Given the description of an element on the screen output the (x, y) to click on. 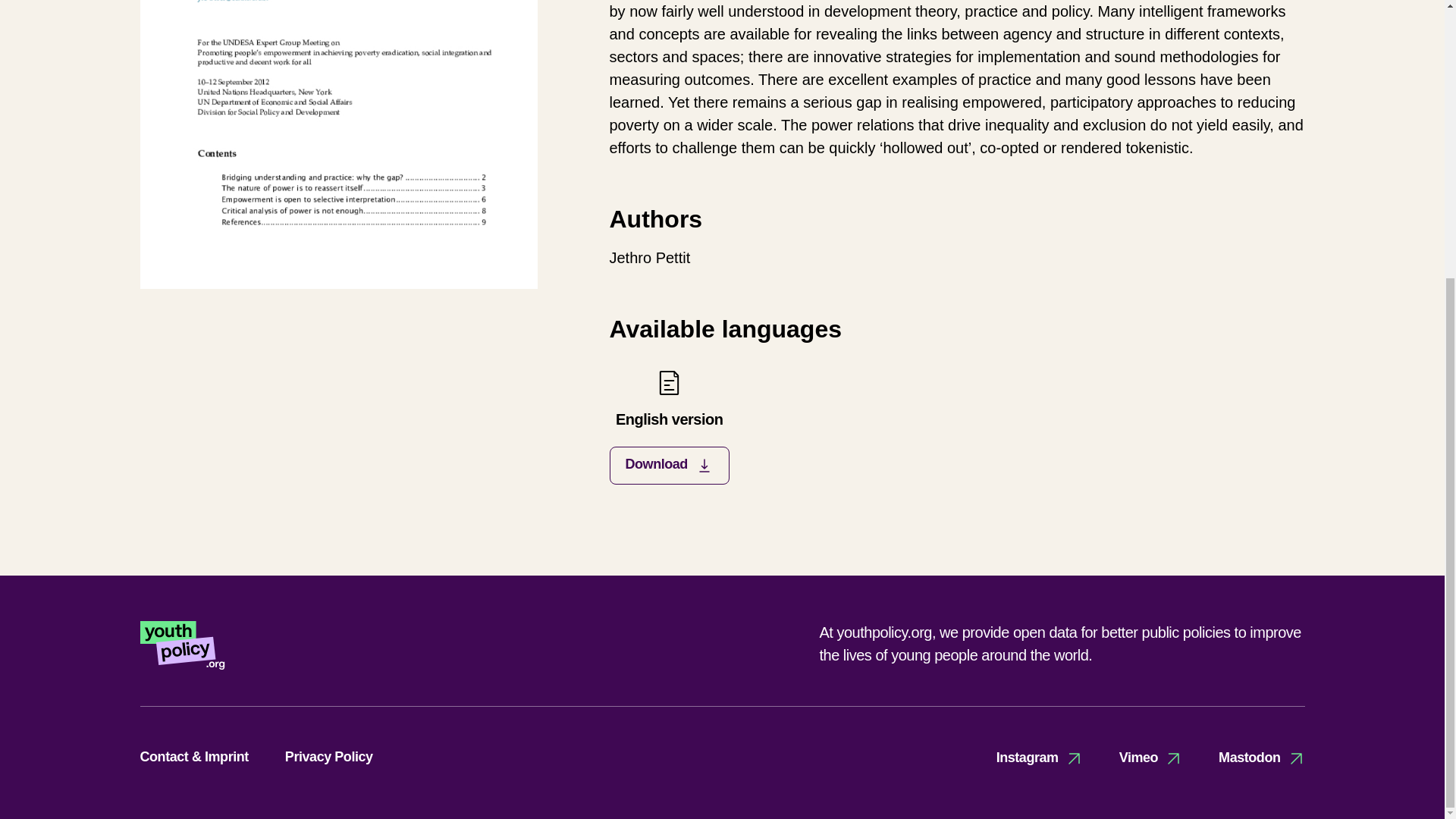
Vimeo (1150, 757)
Mastodon (1261, 757)
Privacy Policy (669, 425)
Instagram (328, 757)
